Given the description of an element on the screen output the (x, y) to click on. 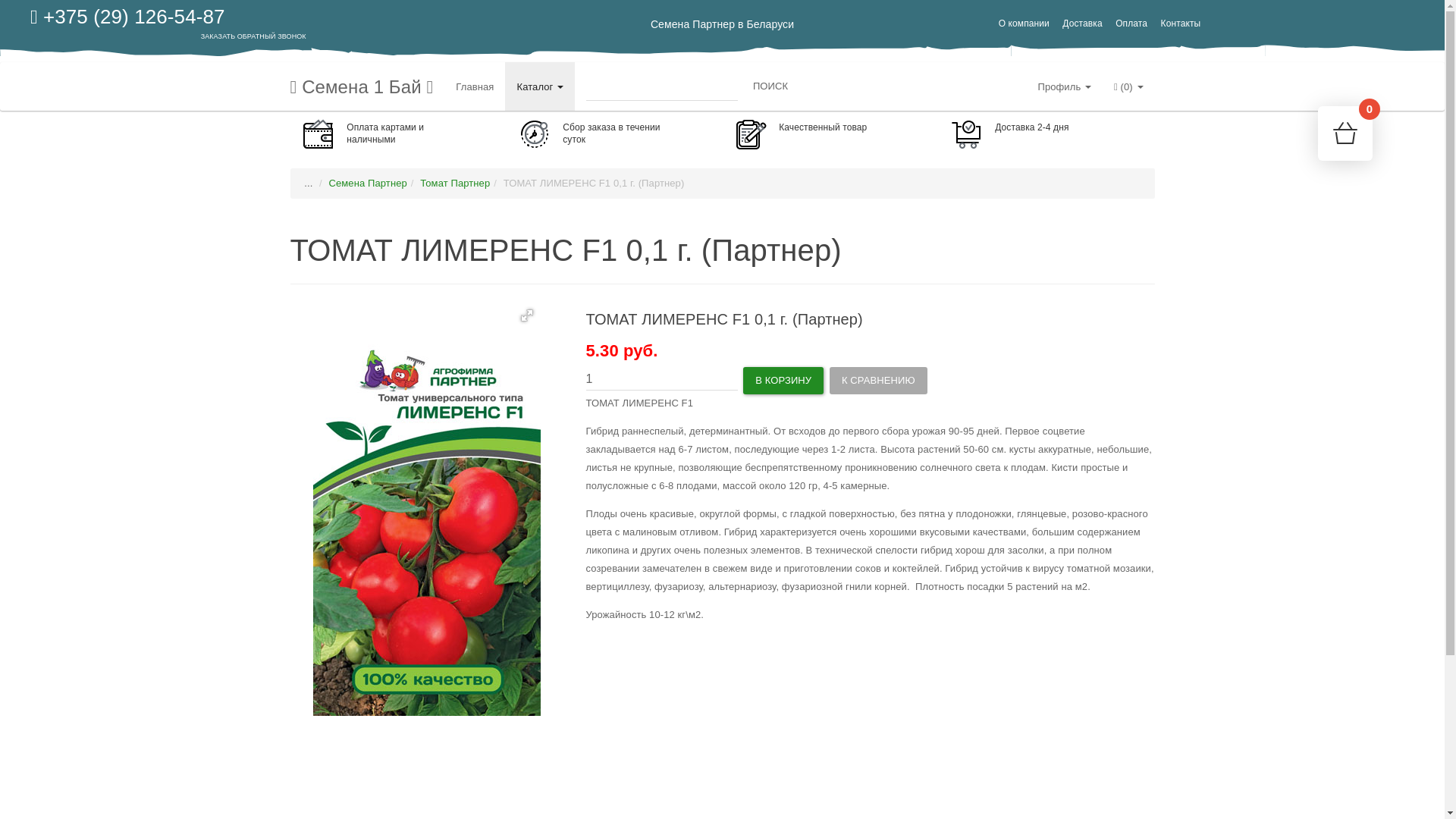
(0) Element type: text (1128, 86)
0 Element type: text (1344, 133)
+375 (29) 126-54-87 Element type: text (127, 16)
